Given the description of an element on the screen output the (x, y) to click on. 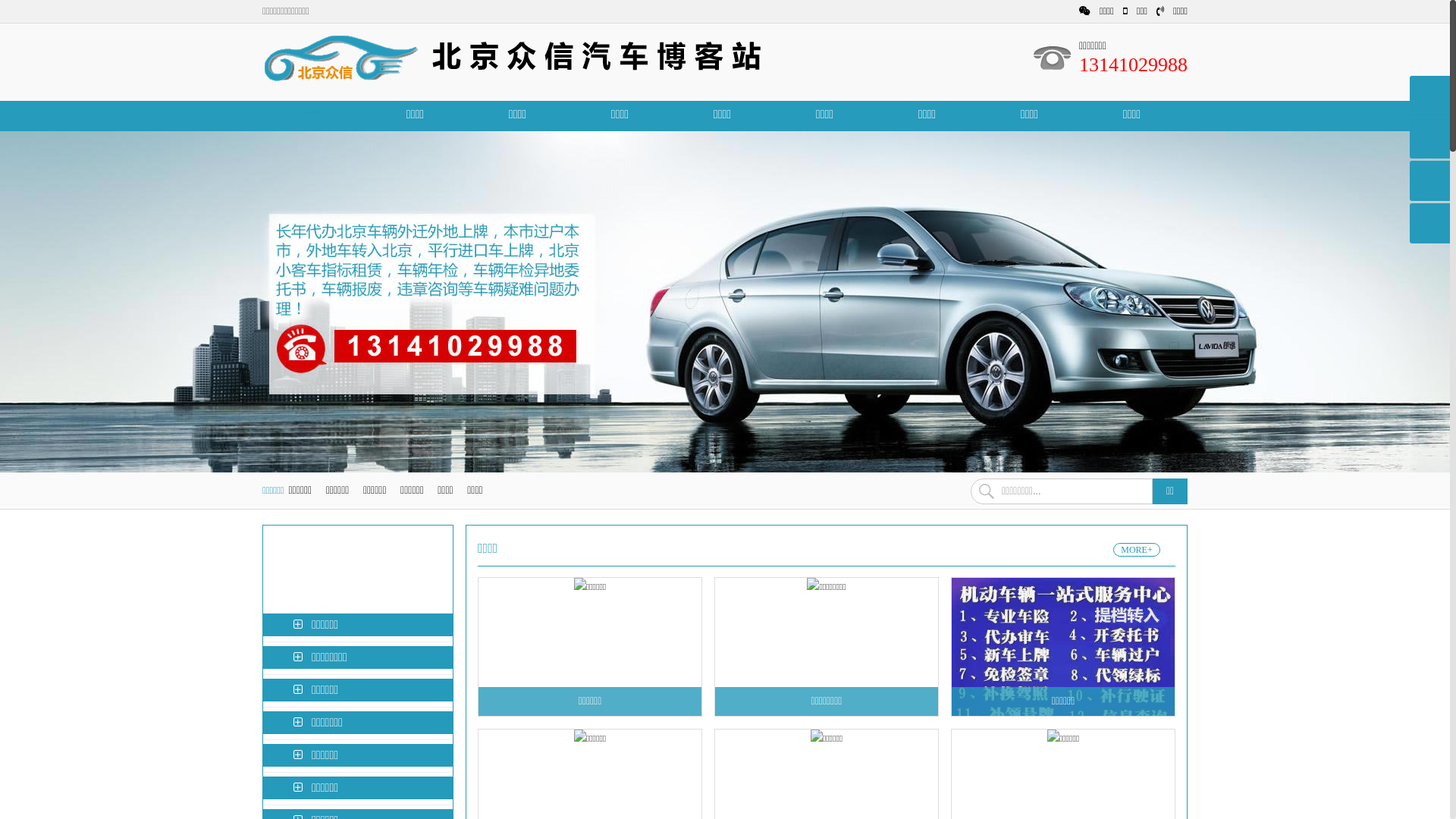
MORE+ Element type: text (1136, 549)
